Given the description of an element on the screen output the (x, y) to click on. 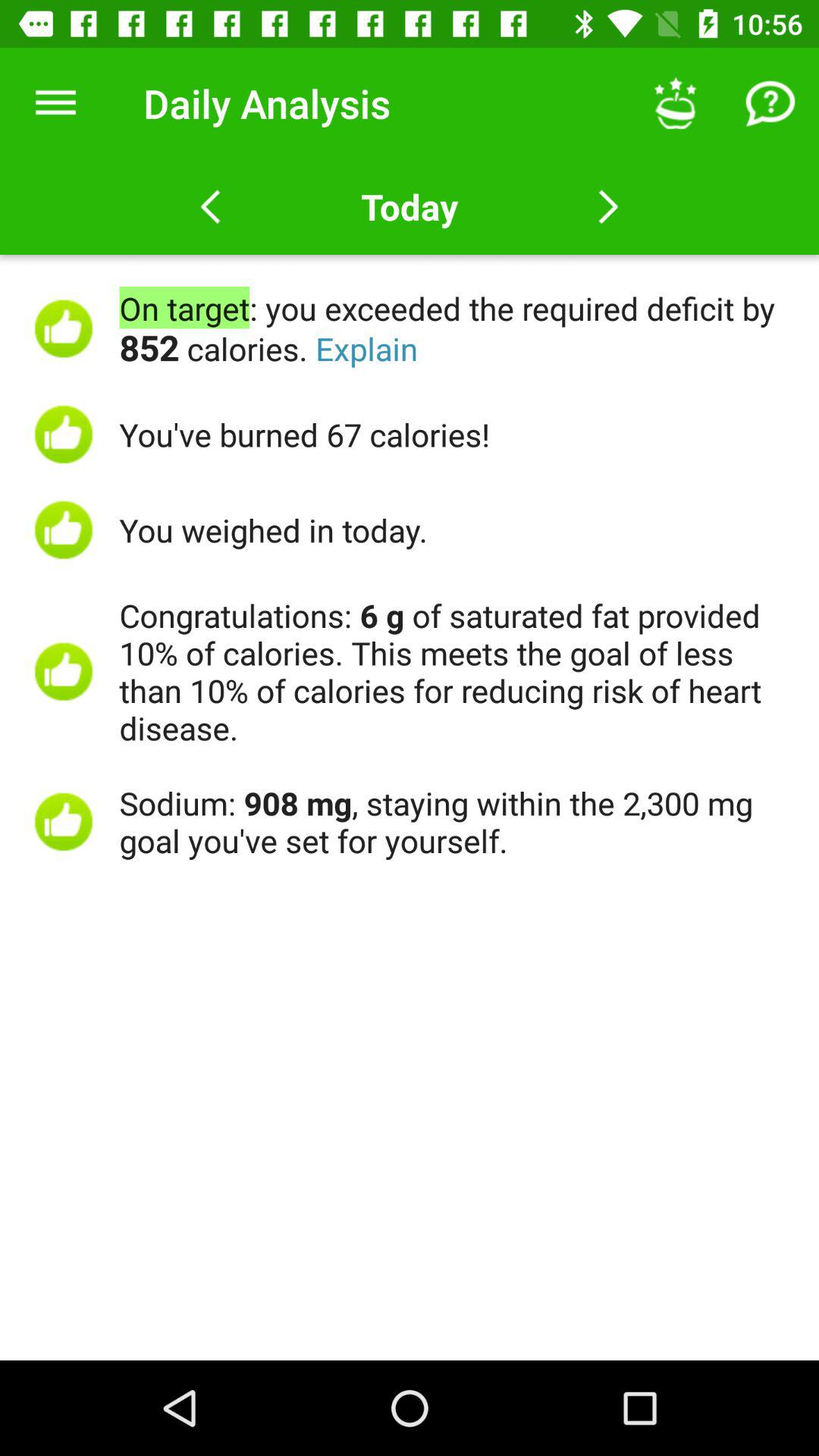
press item above the on target you item (771, 103)
